Given the description of an element on the screen output the (x, y) to click on. 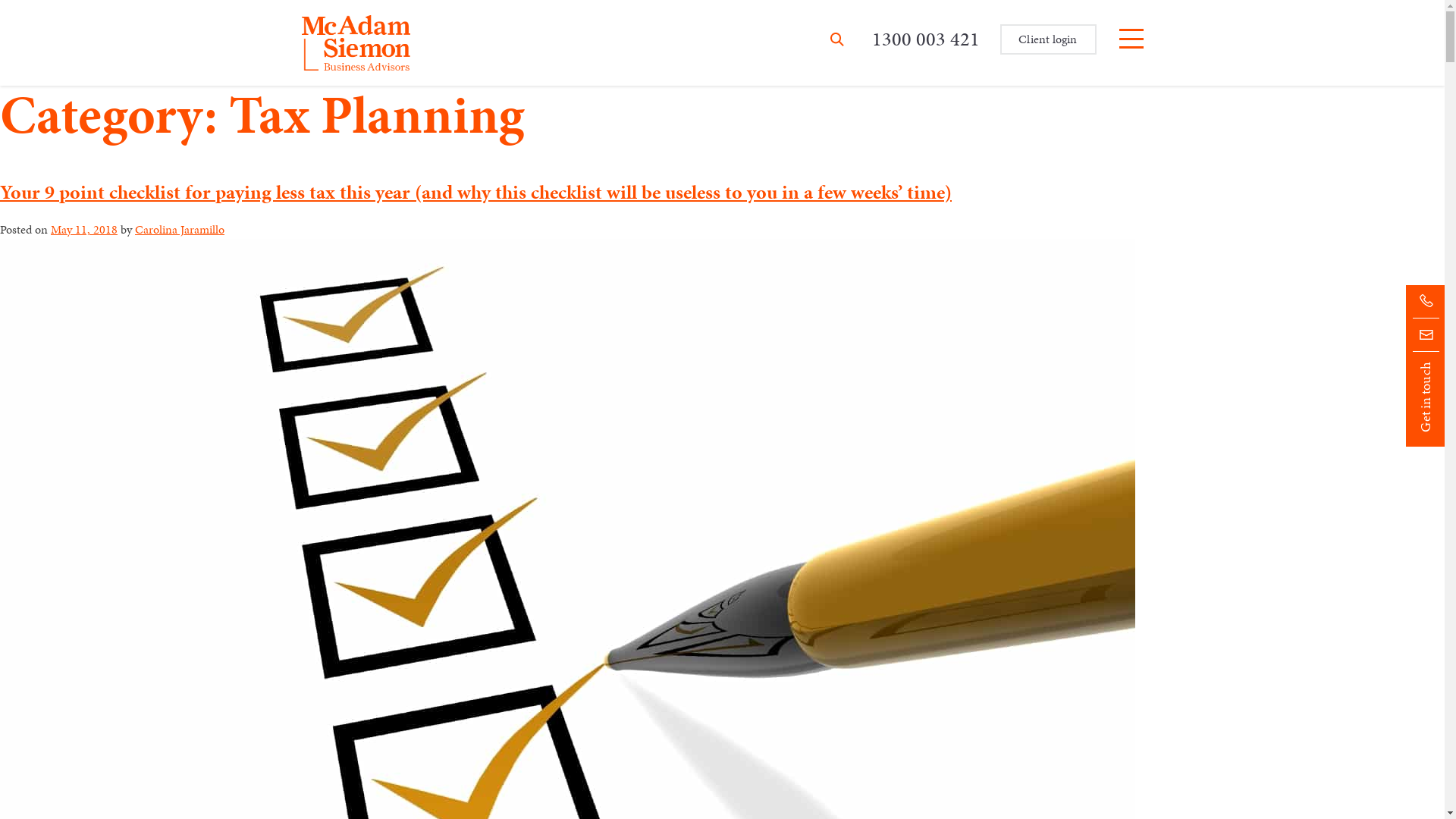
May 11, 2018 Element type: text (83, 229)
Carolina Jaramillo Element type: text (179, 229)
1300 003 421 Element type: text (925, 38)
Client login Element type: text (1047, 39)
